Given the description of an element on the screen output the (x, y) to click on. 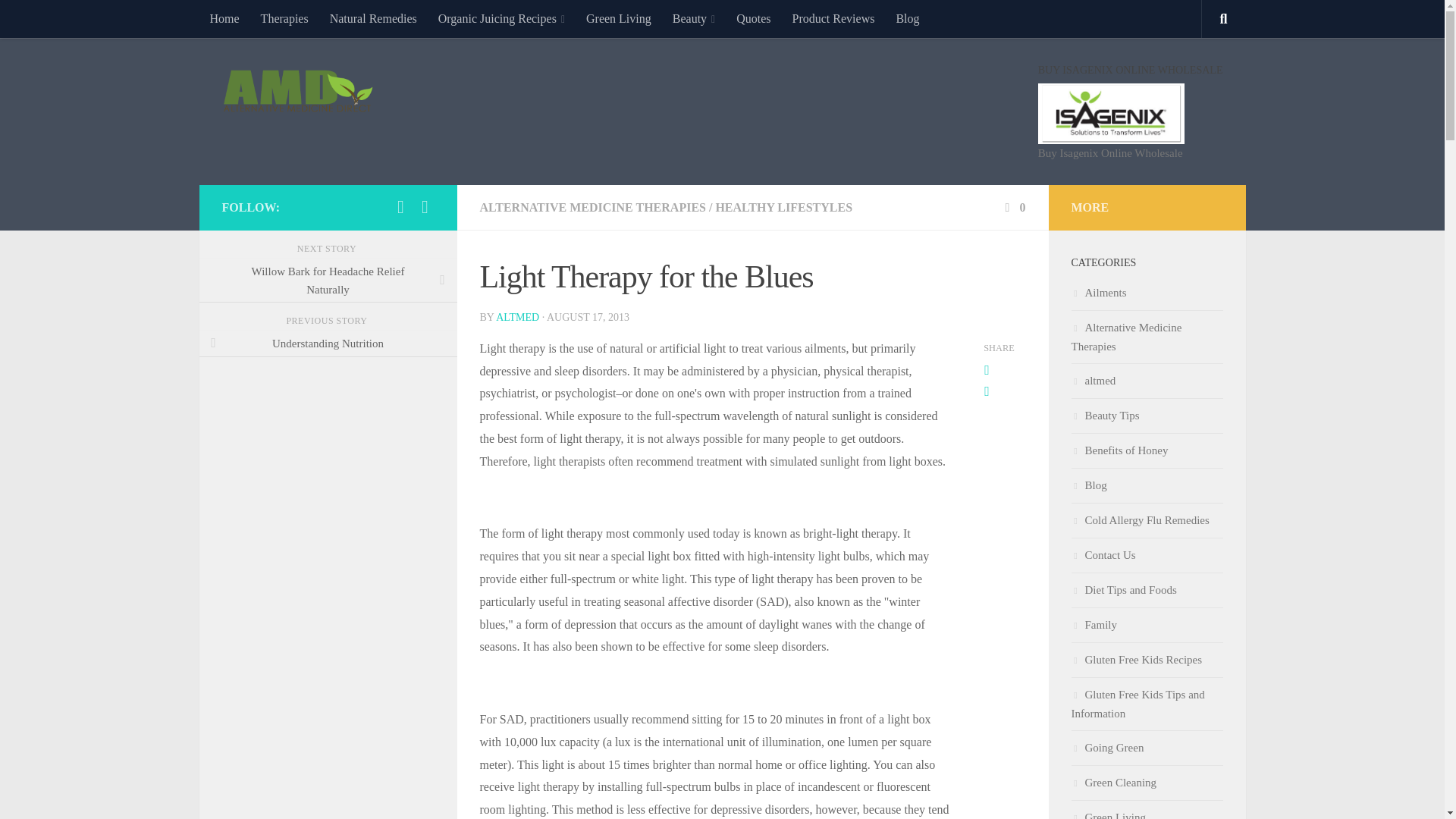
ALTMED (517, 317)
Quotes (752, 18)
HEALTHY LIFESTYLES (782, 206)
Blog (907, 18)
0 (1013, 206)
Organic Juicing Recipes (501, 18)
Follow us on Facebook-official (400, 207)
Product Reviews (833, 18)
Home (223, 18)
Therapies (284, 18)
ALTERNATIVE MEDICINE THERAPIES (591, 206)
Posts by altmed (517, 317)
Natural Remedies (373, 18)
Buy Isagenix Online Wholesale (1130, 113)
Follow us on Pinterest-square (423, 207)
